Given the description of an element on the screen output the (x, y) to click on. 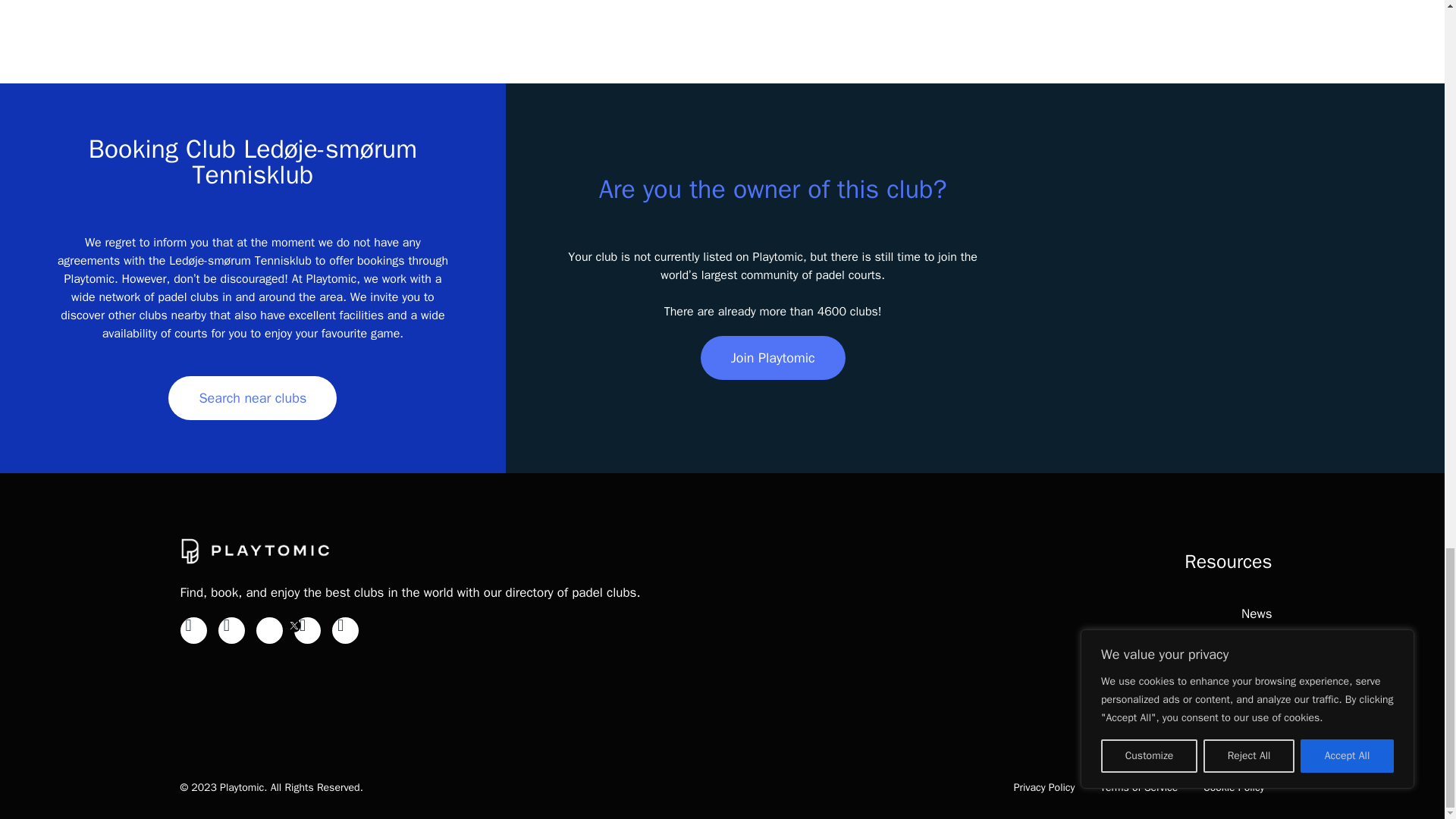
Search near clubs (252, 397)
Join Playtomic (772, 357)
News (1256, 613)
